Given the description of an element on the screen output the (x, y) to click on. 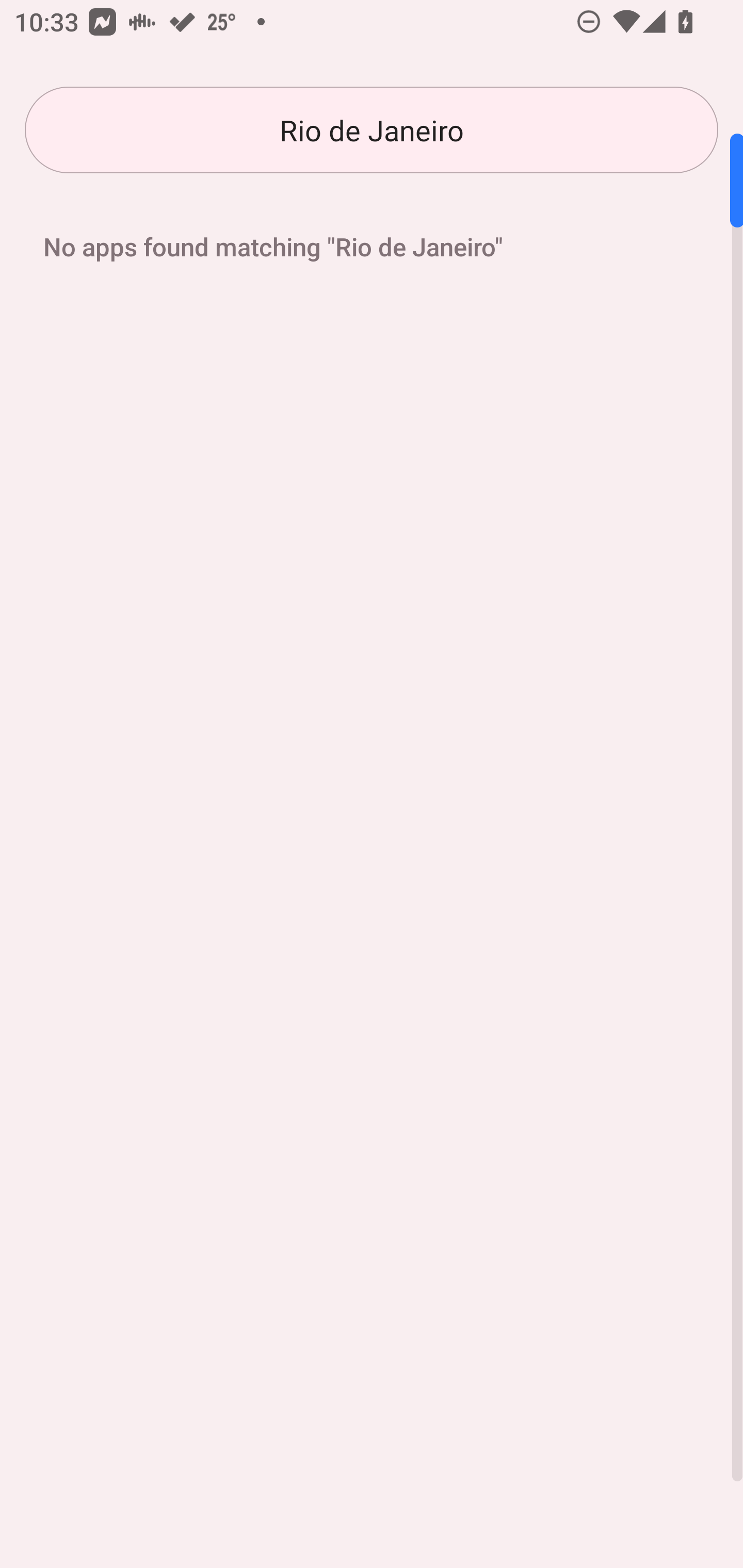
Rio de Janeiro (371, 130)
